Given the description of an element on the screen output the (x, y) to click on. 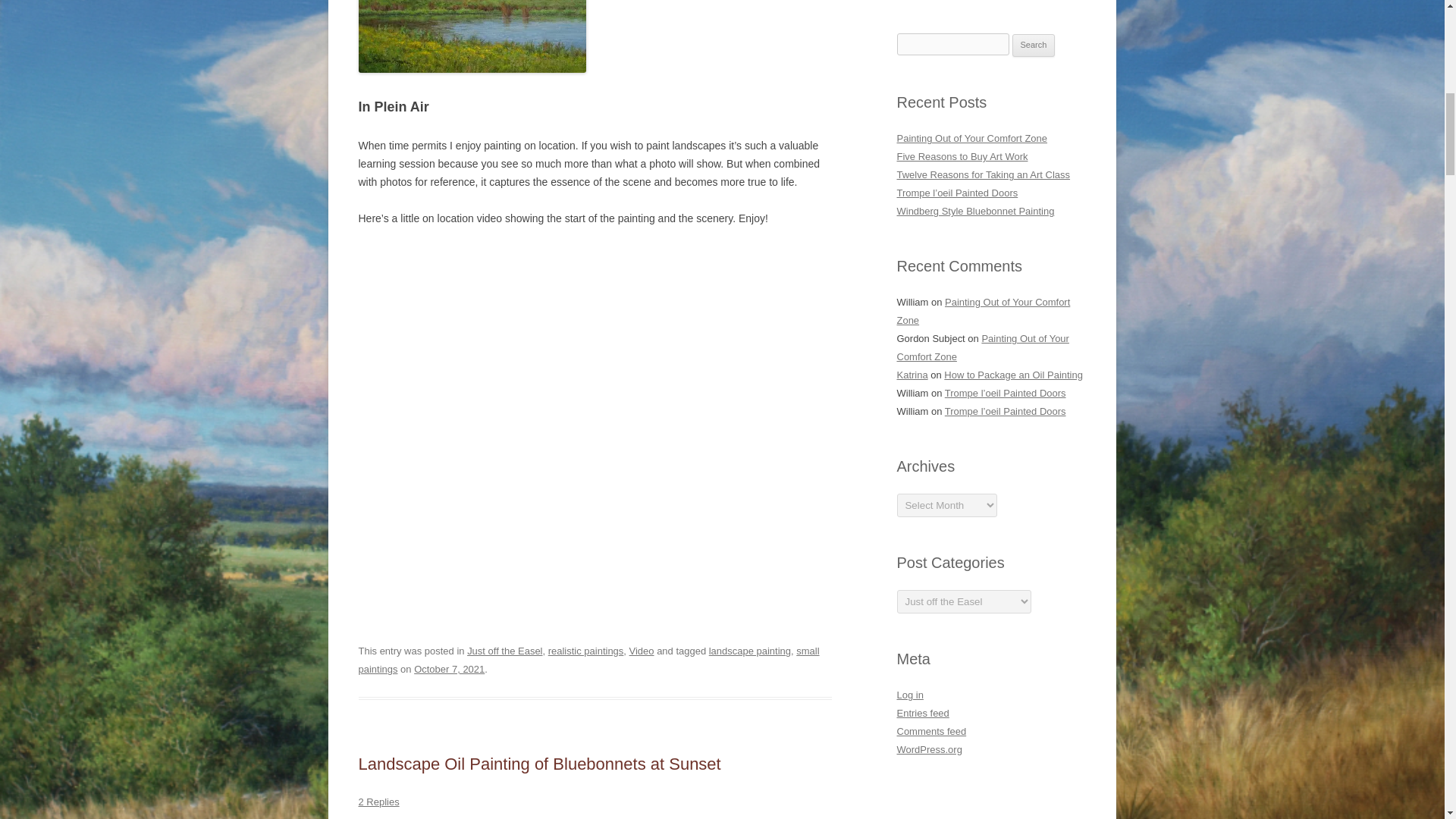
3:34 pm (448, 668)
landscape painting (749, 650)
small paintings (588, 659)
Just off the Easel (504, 650)
Video (640, 650)
realistic paintings (586, 650)
2 Replies (378, 801)
Landscape Oil Painting of Bluebonnets at Sunset (539, 763)
Search (1033, 45)
